Given the description of an element on the screen output the (x, y) to click on. 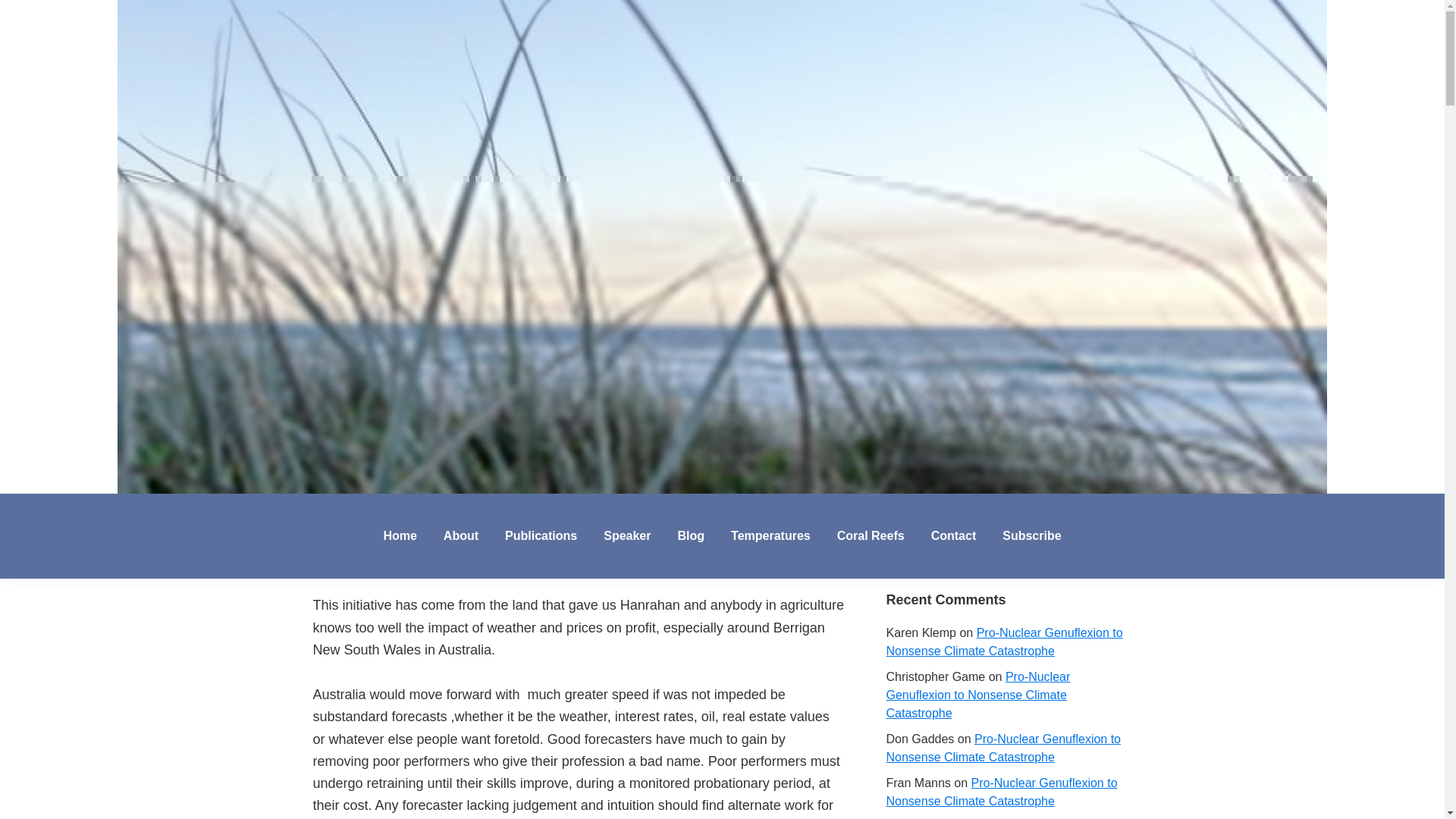
Subscribe (1031, 535)
bad forecasts (641, 226)
Coral Reefs (870, 535)
About (460, 535)
Blog (690, 535)
Contact (954, 535)
